Given the description of an element on the screen output the (x, y) to click on. 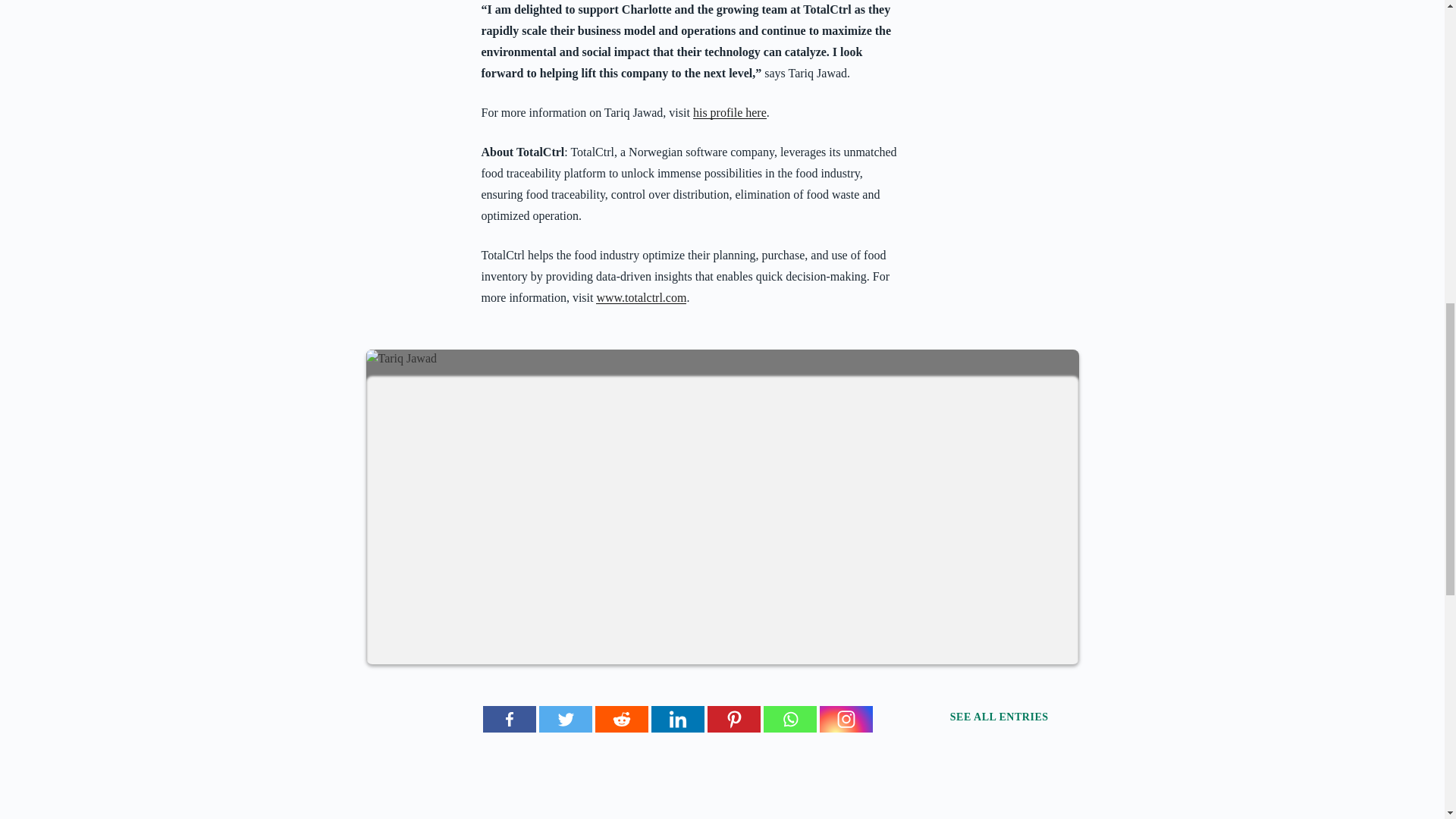
Linkedin (676, 718)
Reddit (620, 718)
his profile here (730, 112)
Twitter (564, 718)
Instagram (845, 718)
SEE ALL ENTRIES (1014, 716)
www.totalctrl.com (640, 297)
Facebook (508, 718)
Whatsapp (788, 718)
Pinterest (733, 718)
